Given the description of an element on the screen output the (x, y) to click on. 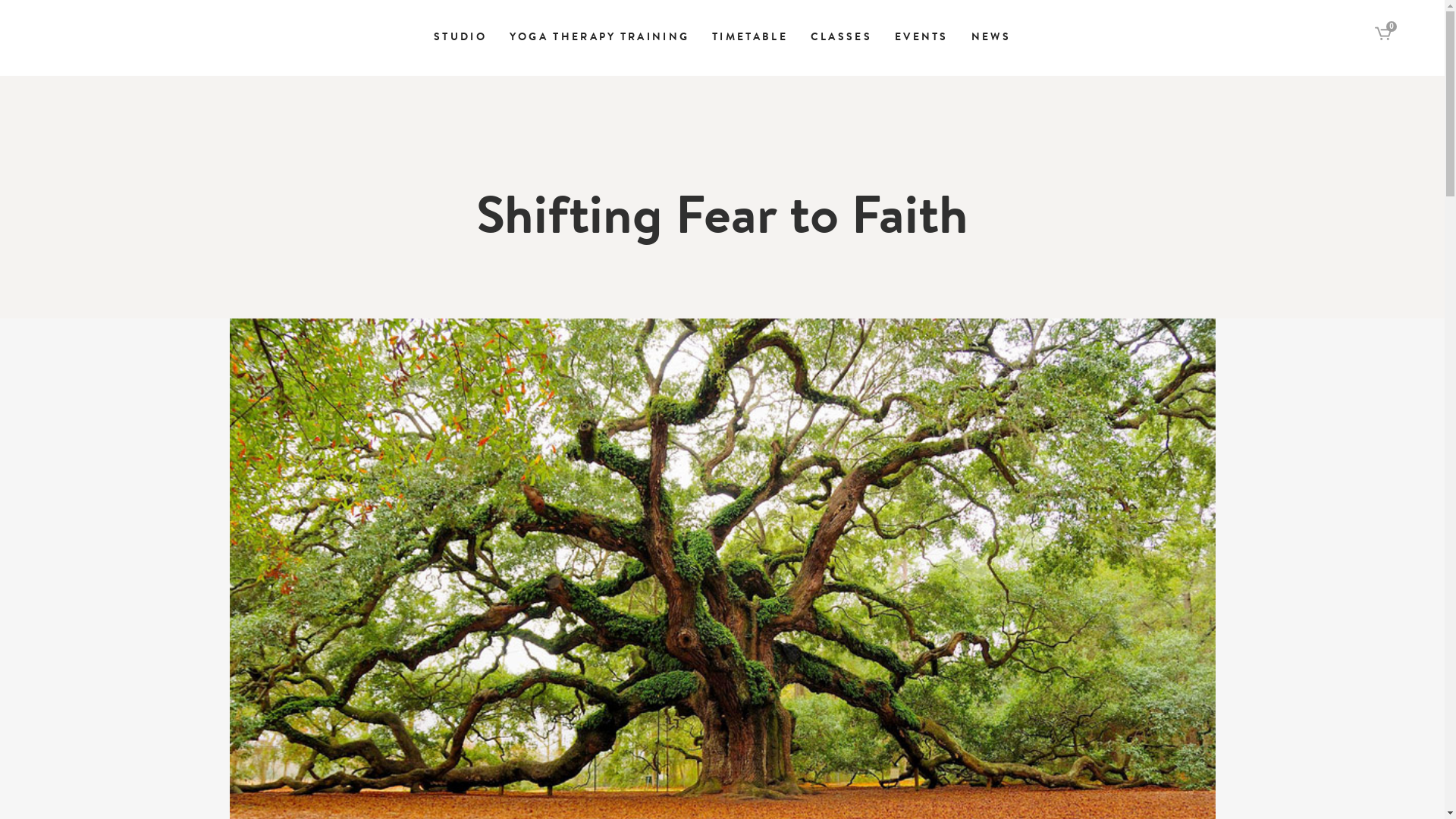
CLASSES Element type: text (841, 37)
STUDIO Element type: text (460, 37)
NEWS Element type: text (991, 37)
TIMETABLE Element type: text (749, 37)
EVENTS Element type: text (921, 37)
0 Element type: text (1382, 36)
YOGA THERAPY TRAINING Element type: text (599, 37)
